Given the description of an element on the screen output the (x, y) to click on. 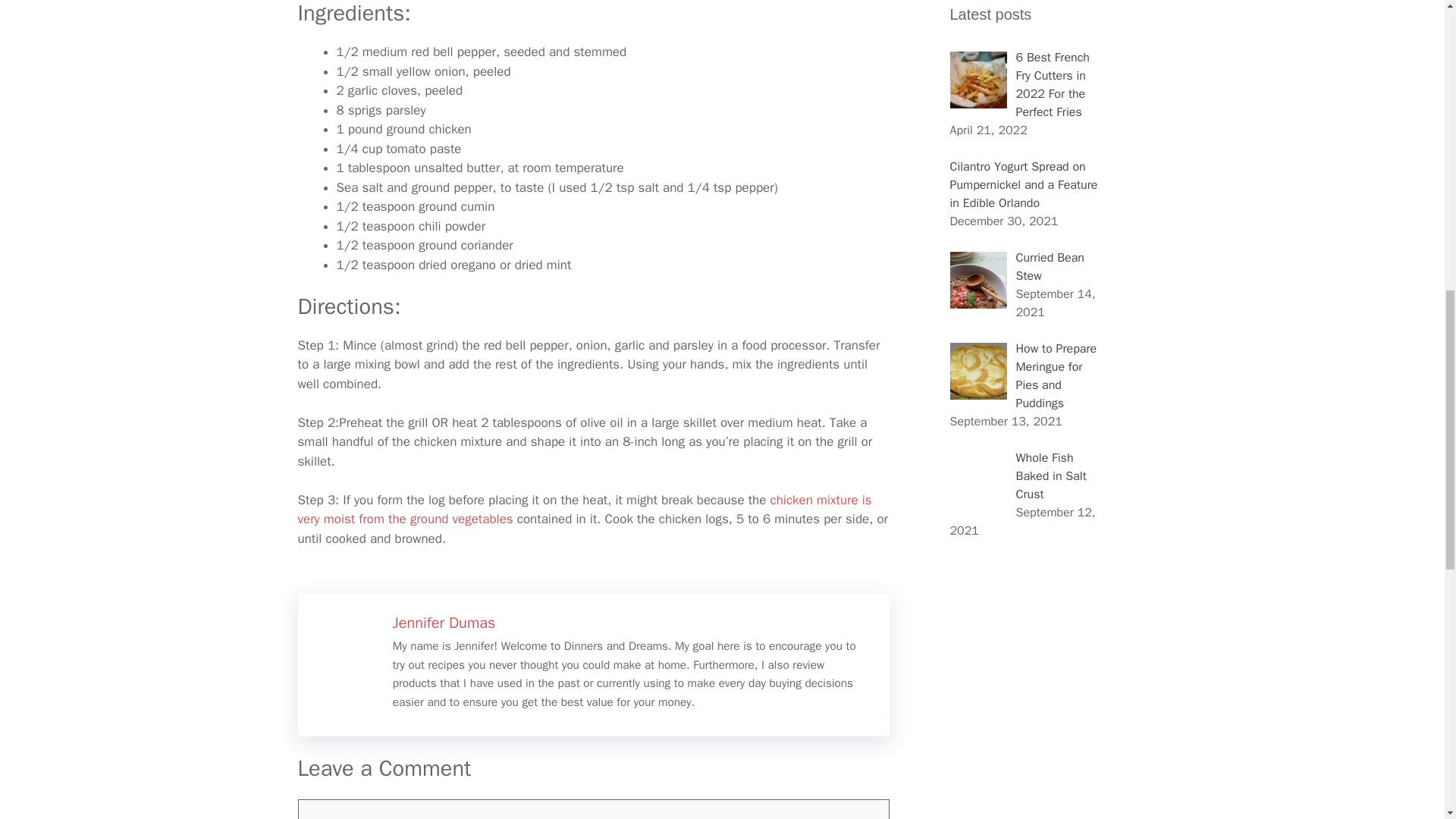
Curried Bean Stew (1050, 266)
Read more (444, 622)
6 Best French Fry Cutters in 2022 For the Perfect Fries (1052, 84)
How to Prepare Meringue for Pies and Puddings (1056, 376)
Whole Fish Baked in Salt Crust (1051, 476)
chicken mixture is very moist from the ground vegetables (583, 509)
Jennifer Dumas (444, 622)
